Given the description of an element on the screen output the (x, y) to click on. 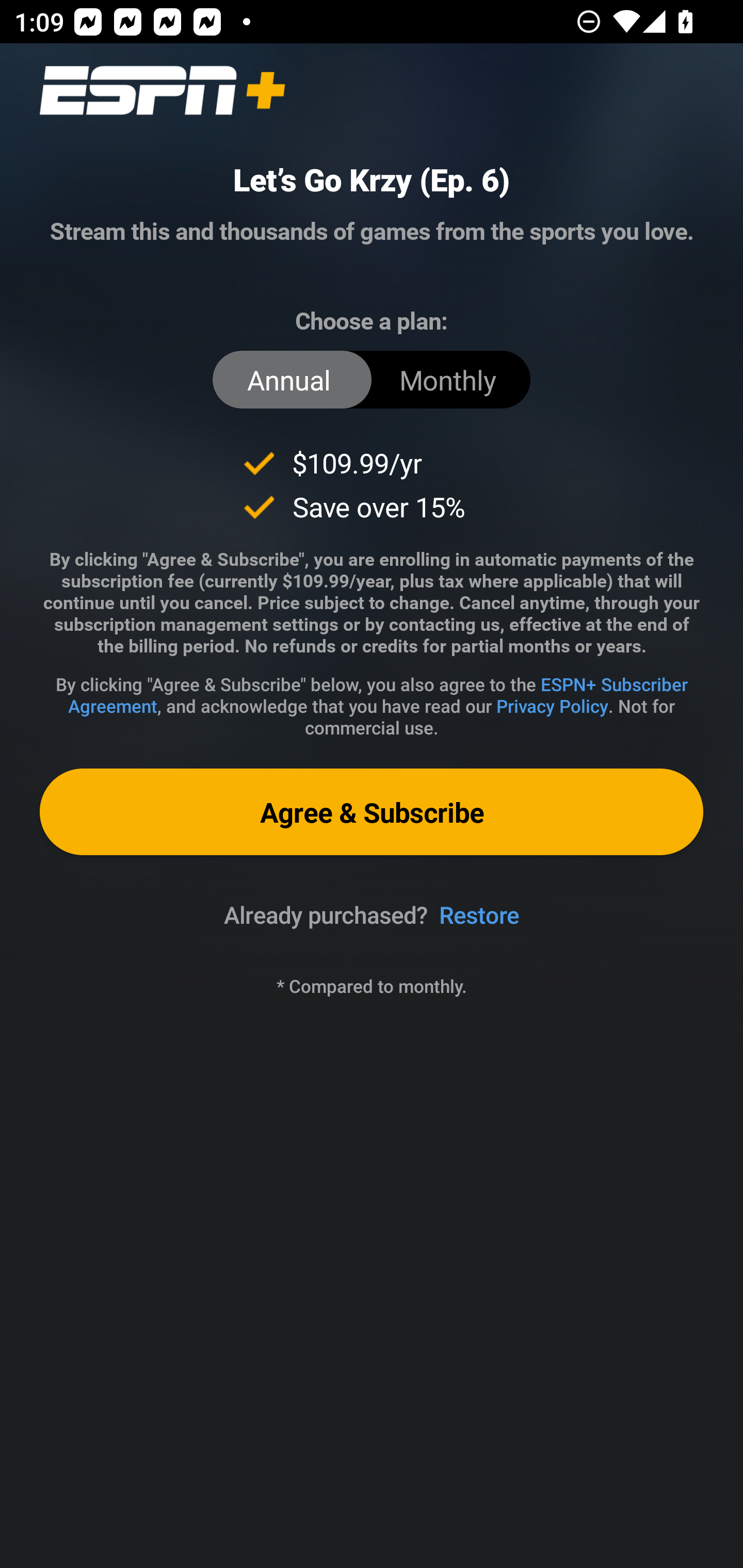
Agree & Subscribe (371, 811)
